Given the description of an element on the screen output the (x, y) to click on. 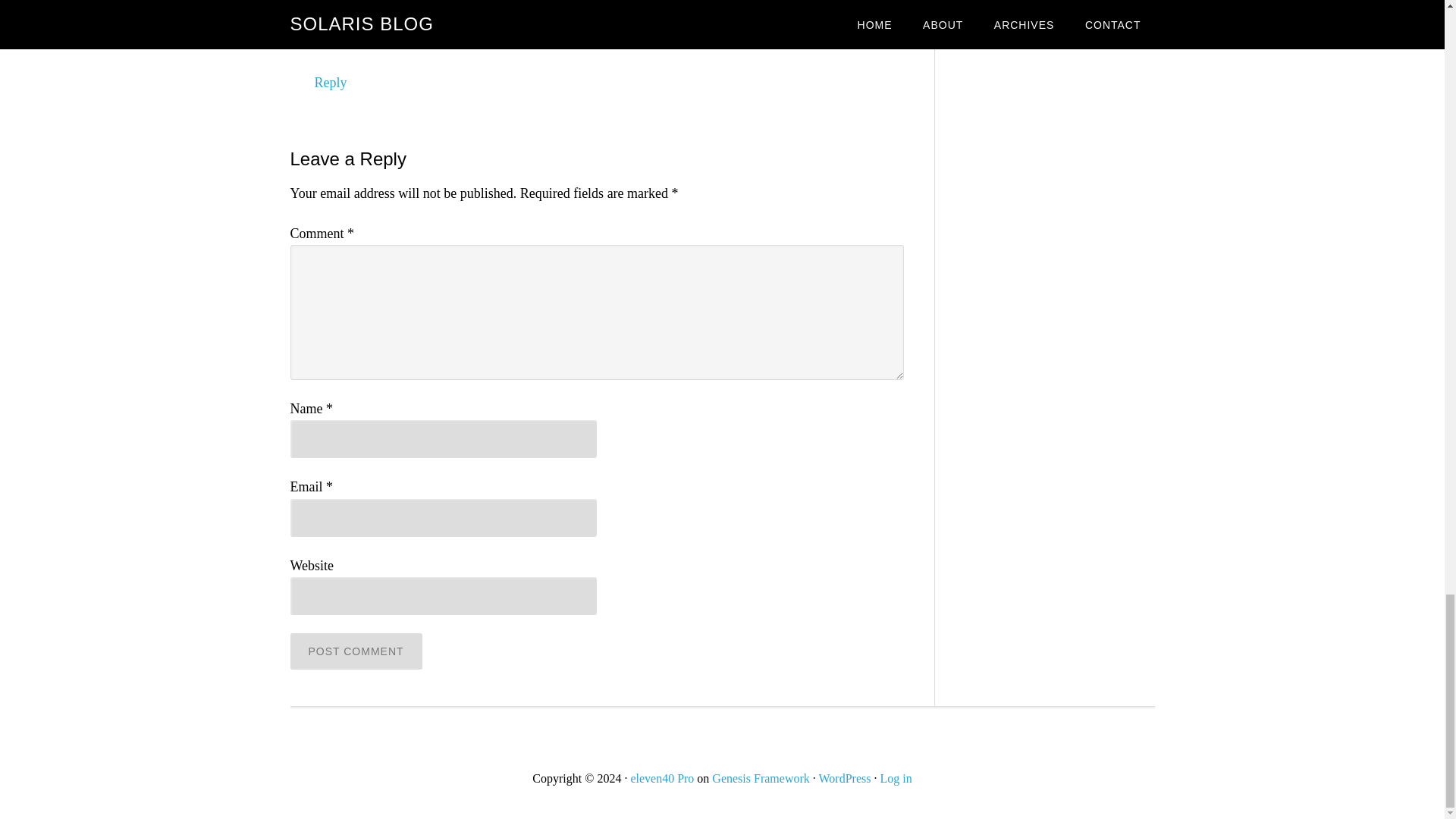
Post Comment (355, 651)
Post Comment (355, 651)
Reply (330, 82)
